Given the description of an element on the screen output the (x, y) to click on. 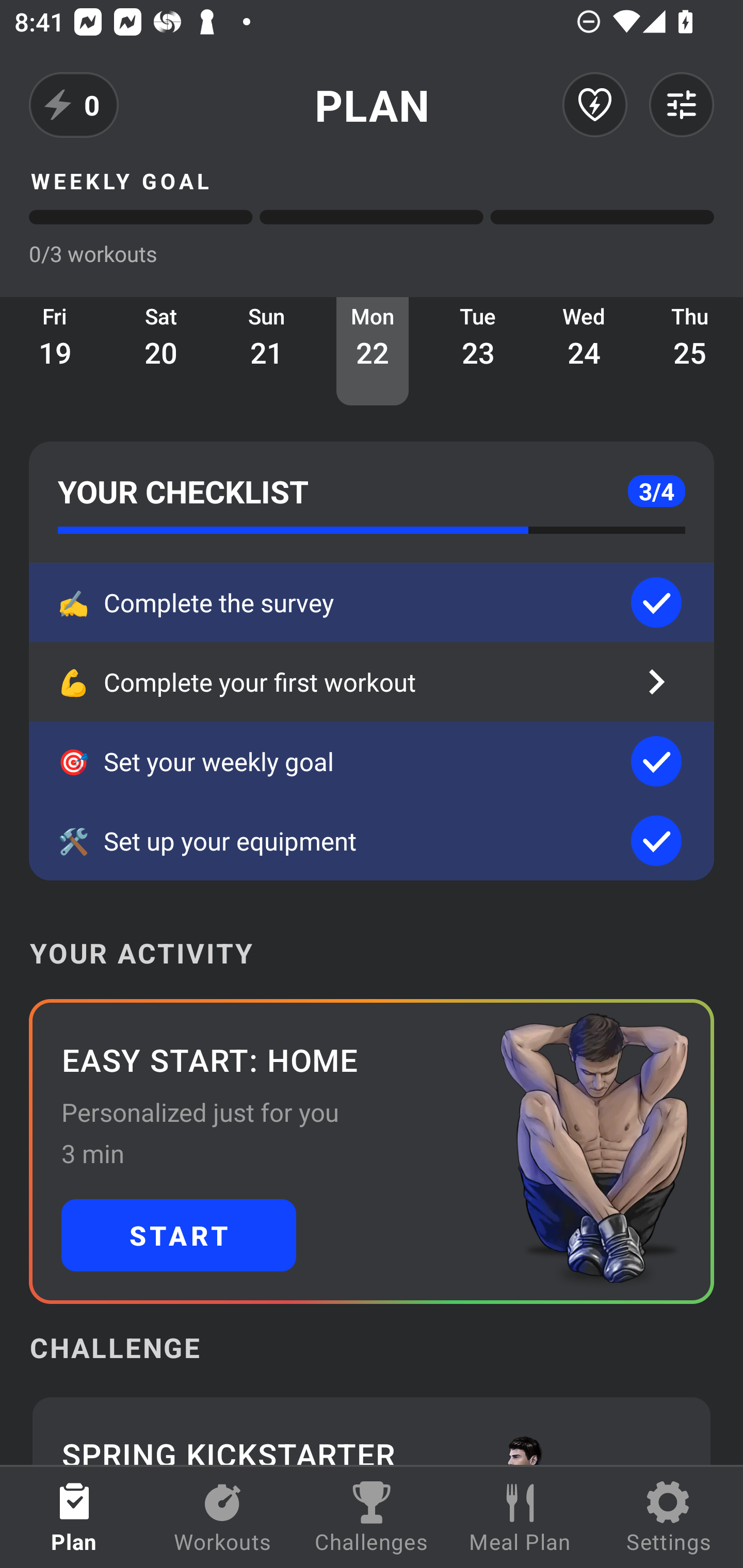
0 (73, 104)
Fri 19 (55, 351)
Sat 20 (160, 351)
Sun 21 (266, 351)
Mon 22 (372, 351)
Tue 23 (478, 351)
Wed 24 (584, 351)
Thu 25 (690, 351)
💪 Complete your first workout (371, 681)
START (178, 1235)
 Workouts  (222, 1517)
 Challenges  (371, 1517)
 Meal Plan  (519, 1517)
 Settings  (668, 1517)
